Given the description of an element on the screen output the (x, y) to click on. 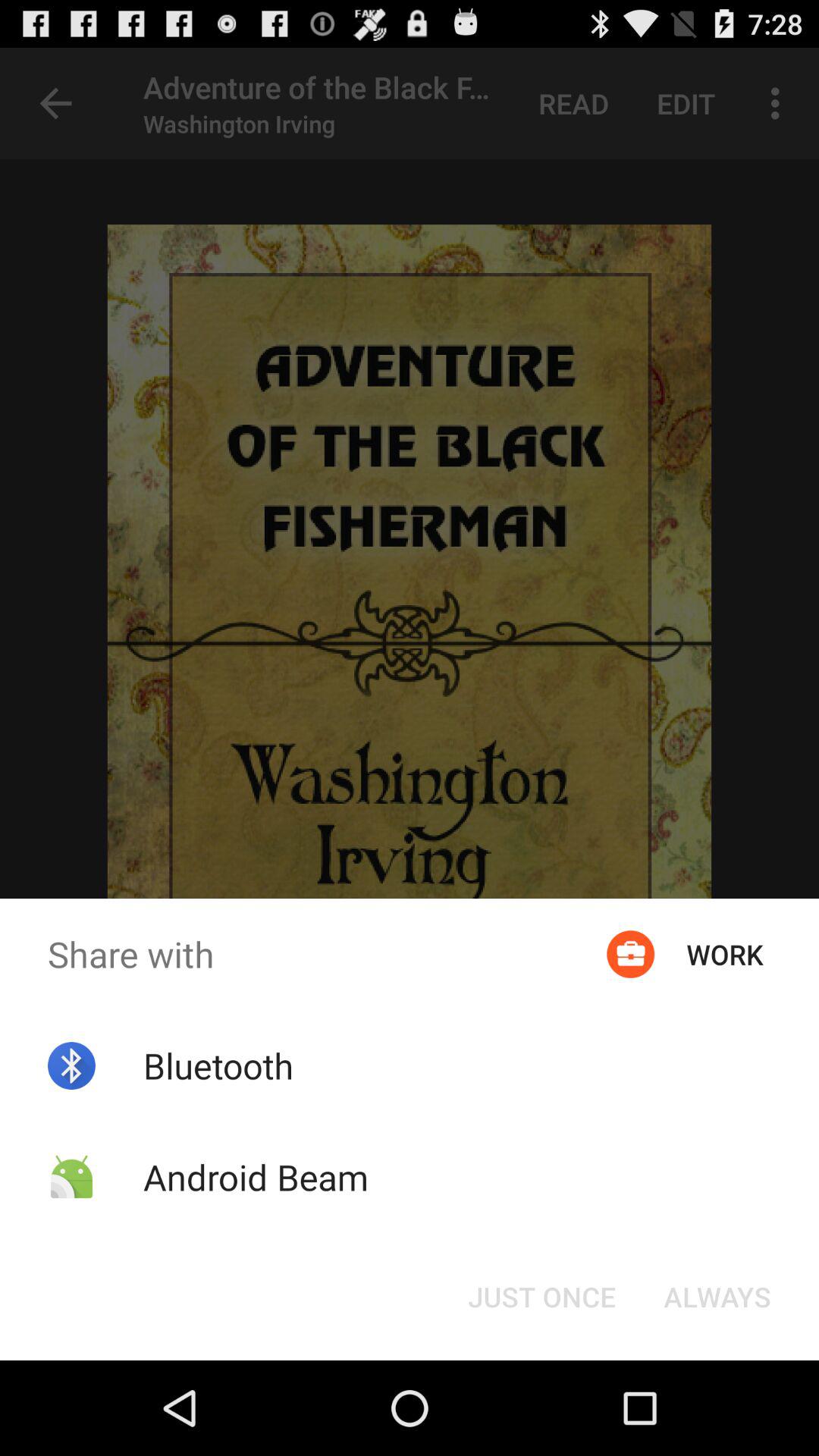
select the item to the left of always icon (541, 1296)
